Given the description of an element on the screen output the (x, y) to click on. 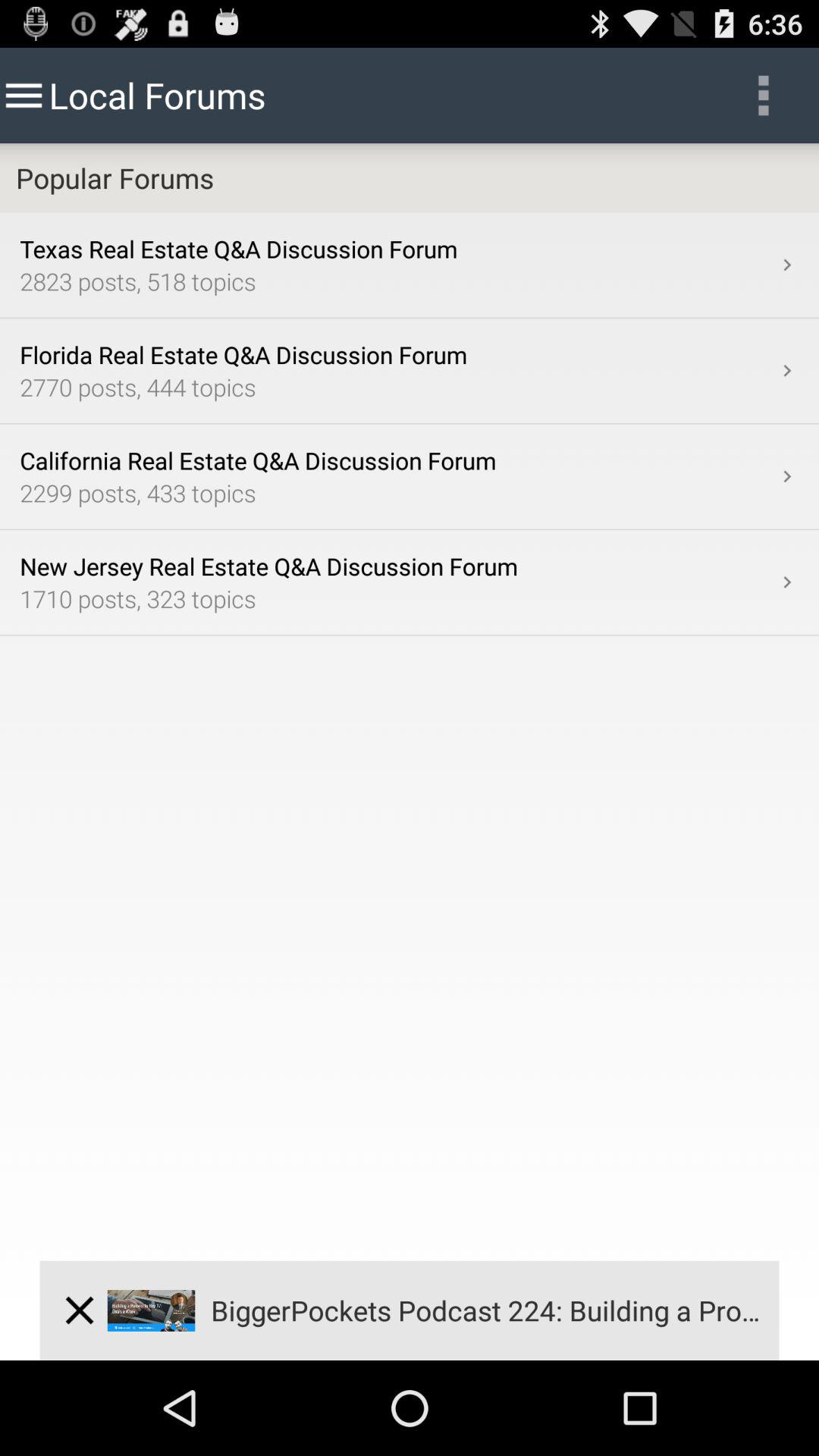
turn on app below the 2770 posts 444 (787, 476)
